Given the description of an element on the screen output the (x, y) to click on. 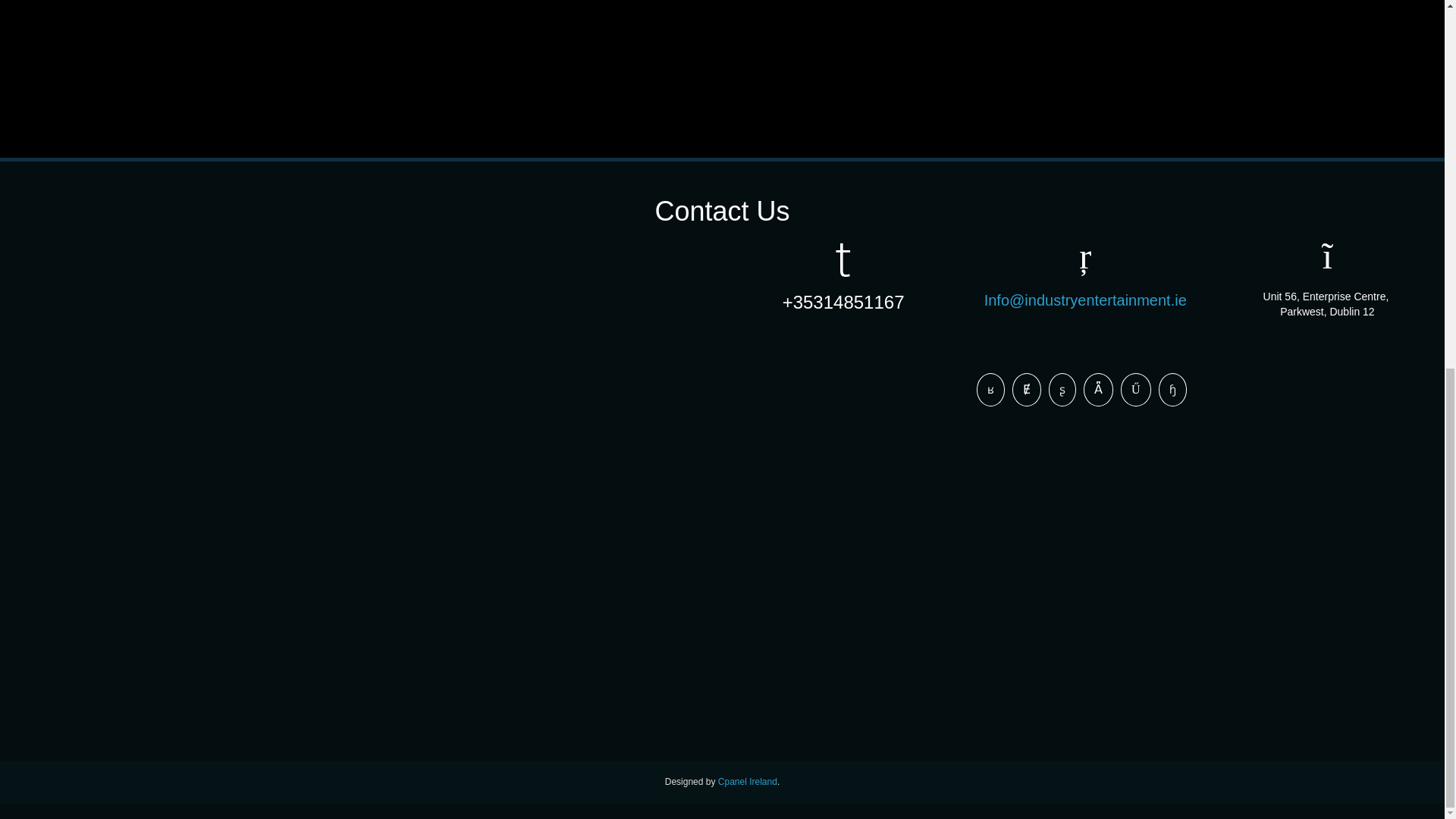
Cpanel Ireland (747, 781)
